Given the description of an element on the screen output the (x, y) to click on. 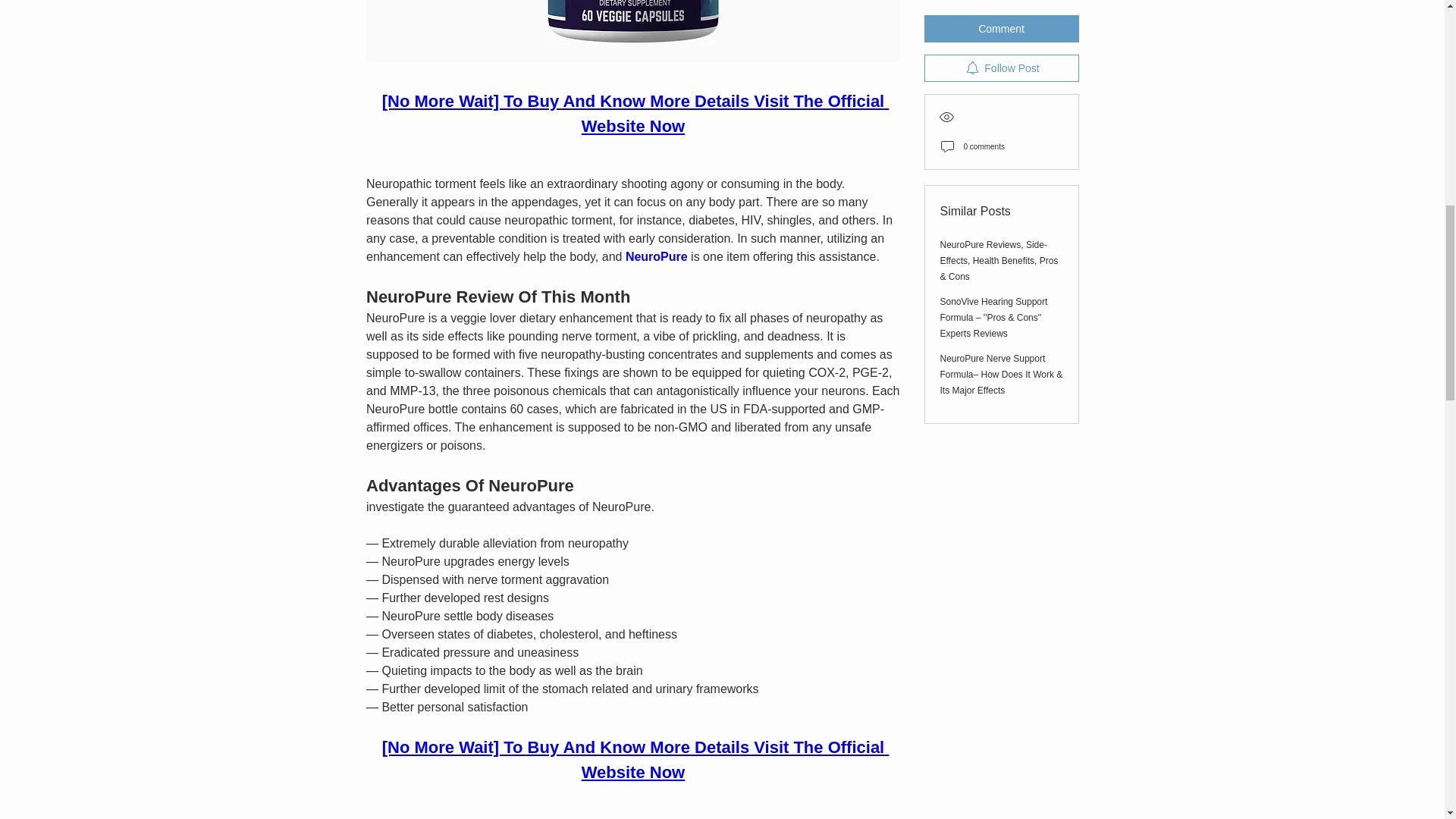
NeuroPure (655, 256)
